Given the description of an element on the screen output the (x, y) to click on. 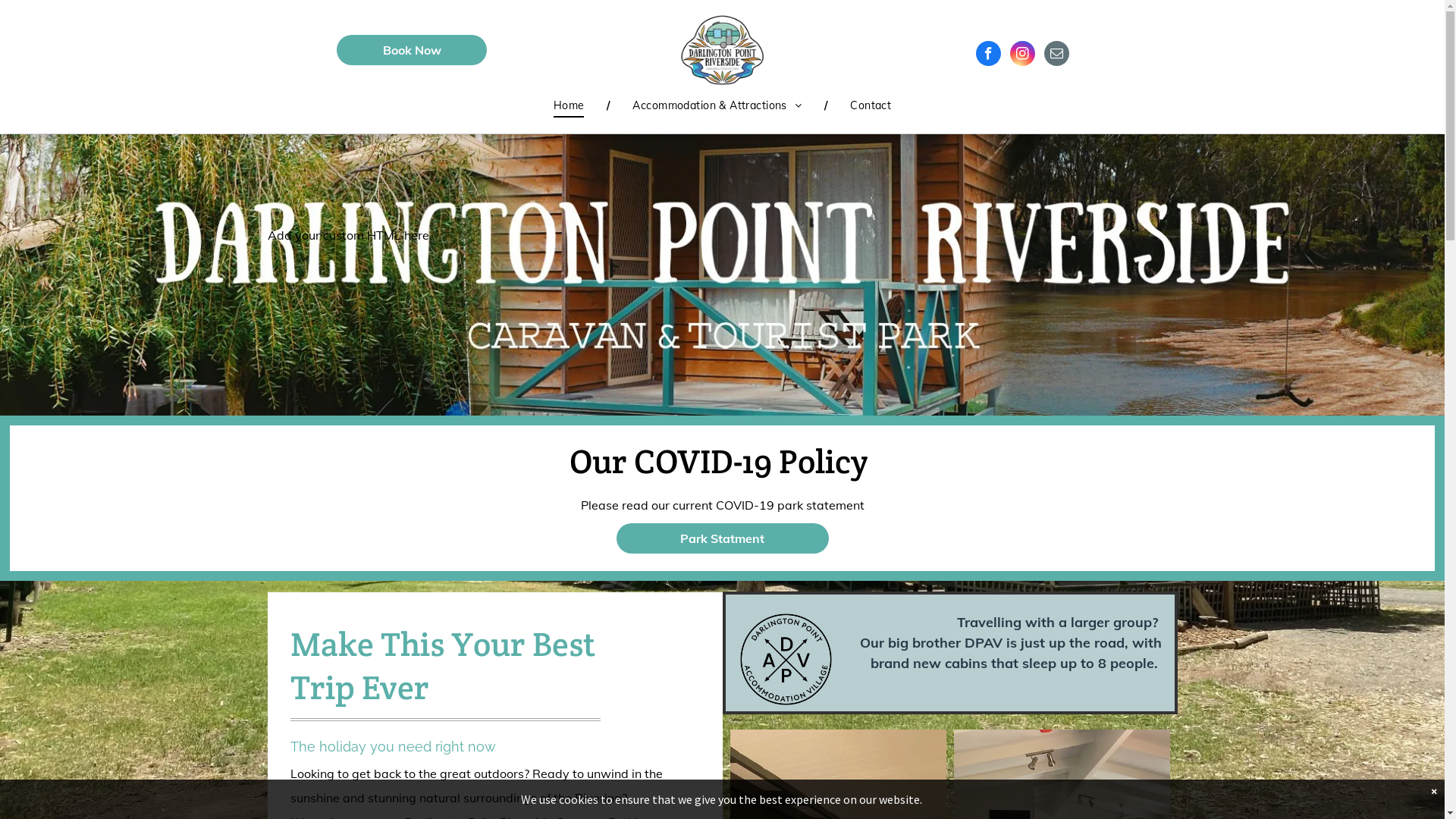
Home Element type: text (568, 105)
Park Statment Element type: text (721, 538)
Contact Element type: text (870, 105)
Book Now Element type: text (411, 49)
Accommodation & Attractions Element type: text (716, 105)
